Given the description of an element on the screen output the (x, y) to click on. 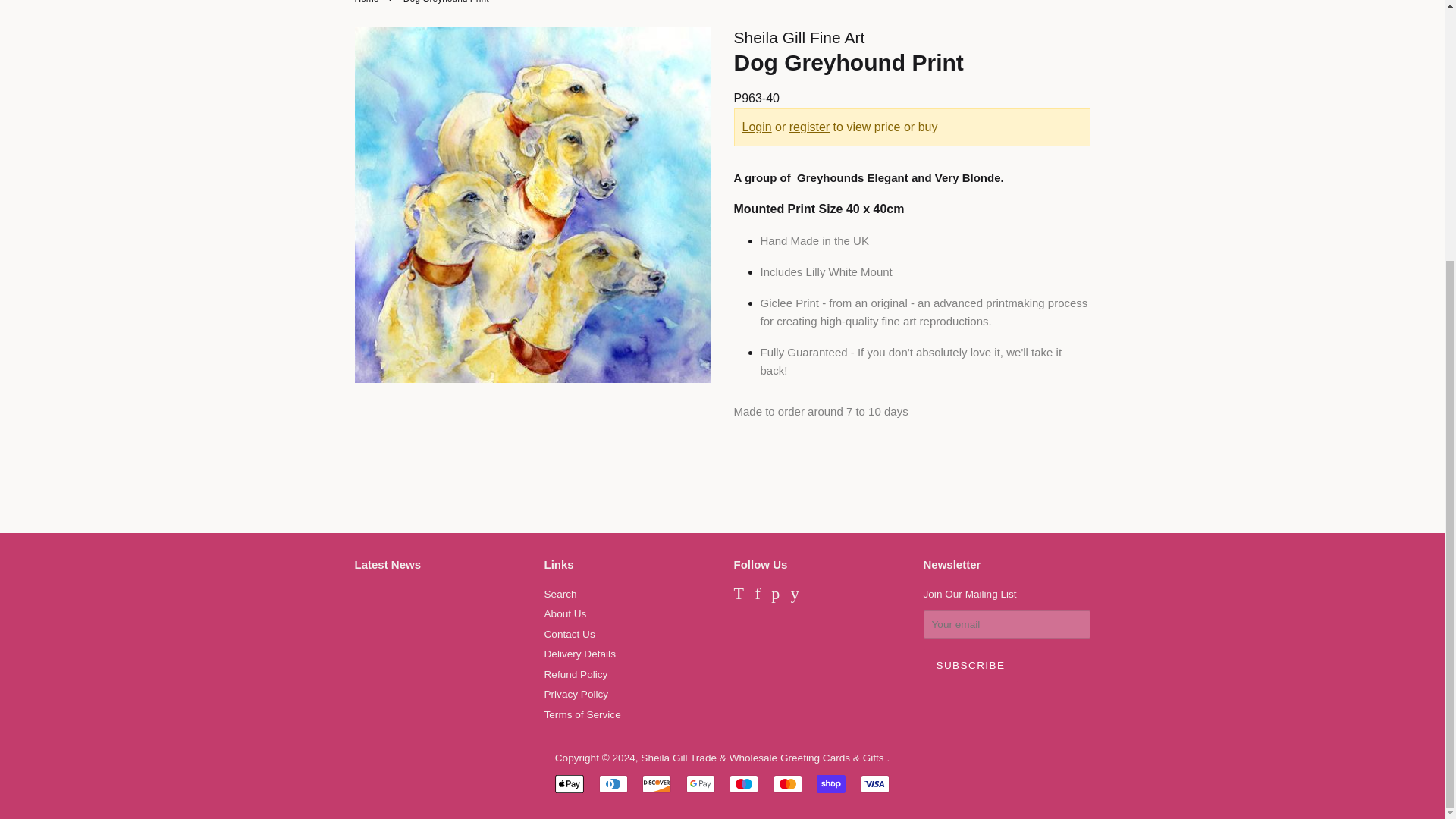
Google Pay (699, 783)
Apple Pay (568, 783)
Subscribe (970, 665)
Diners Club (612, 783)
Mastercard (787, 783)
Shop Pay (830, 783)
Back to the frontpage (368, 2)
Maestro (743, 783)
Visa (874, 783)
Discover (656, 783)
